Given the description of an element on the screen output the (x, y) to click on. 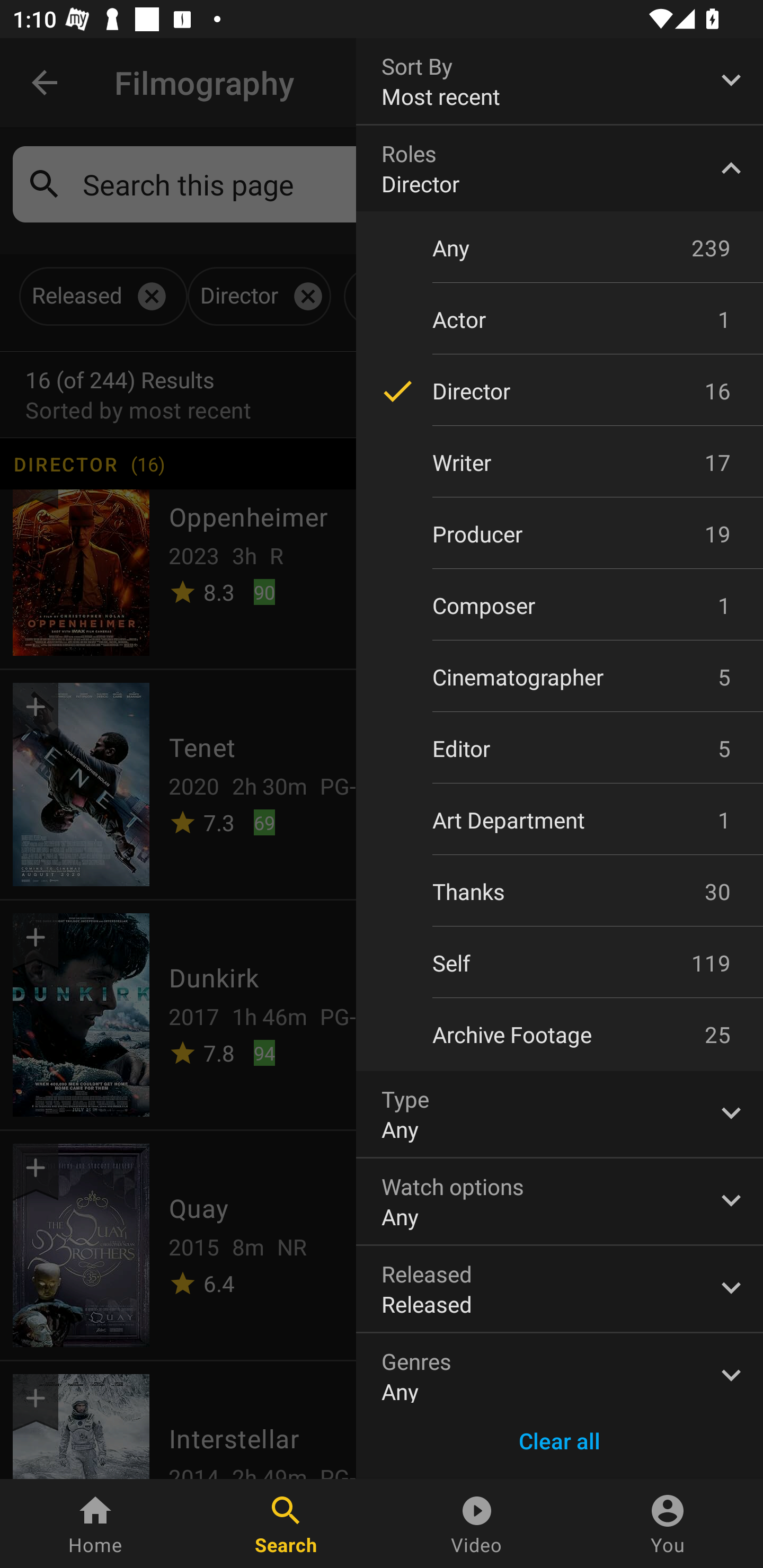
Sort By Most recent (559, 80)
Roles Director (559, 168)
Any 239 (559, 247)
Actor 1 (559, 318)
Director 16 (559, 390)
Writer 17 (559, 462)
Producer 19 (559, 533)
Composer 1 (559, 604)
Cinematographer 5 (559, 676)
Editor 5 (559, 748)
Art Department 1 (559, 819)
Thanks 30 (559, 891)
Self 119 (559, 962)
Archive Footage 25 (559, 1034)
Type Any (559, 1113)
Watch options Any (559, 1201)
Released (559, 1288)
Genres Any (559, 1367)
Clear all (559, 1440)
Home (95, 1523)
Video (476, 1523)
You (667, 1523)
